Given the description of an element on the screen output the (x, y) to click on. 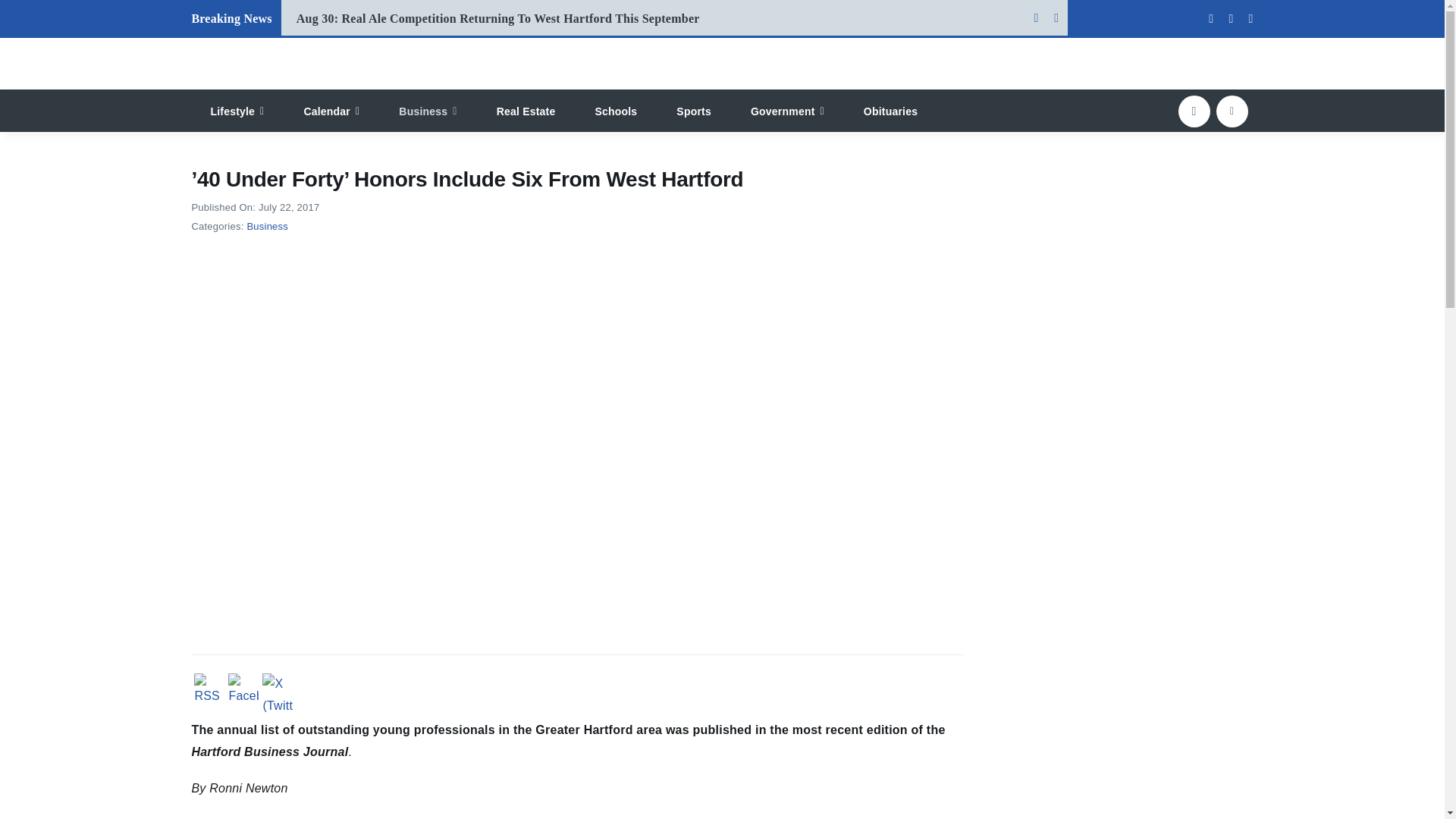
Sports (694, 110)
Calendar (330, 110)
RSS (208, 690)
Business (428, 110)
Schools (615, 110)
Lifestyle (236, 110)
Real Estate (526, 110)
Government (787, 110)
